Given the description of an element on the screen output the (x, y) to click on. 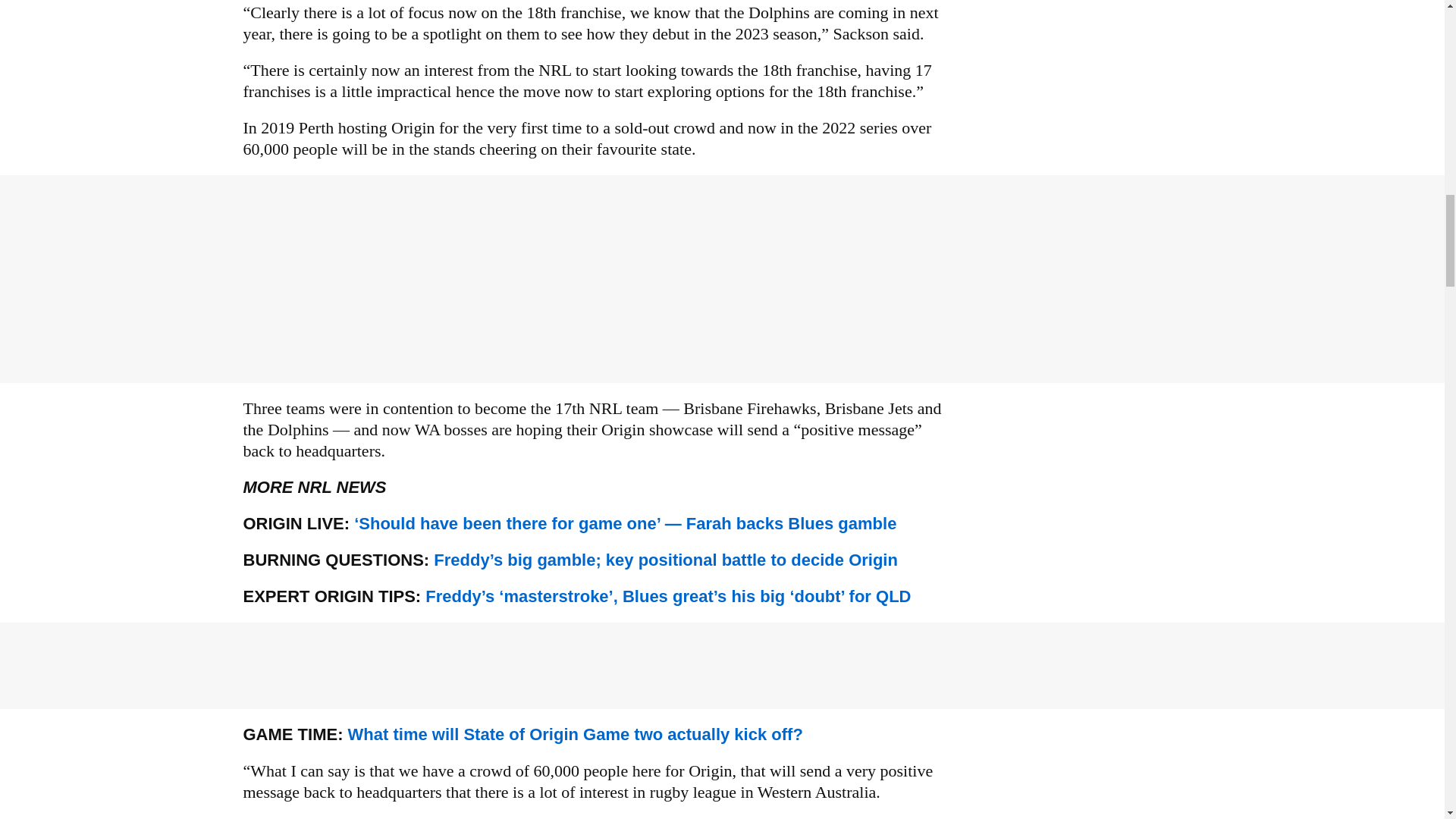
What time will State of Origin Game two actually kick off? (575, 733)
